Given the description of an element on the screen output the (x, y) to click on. 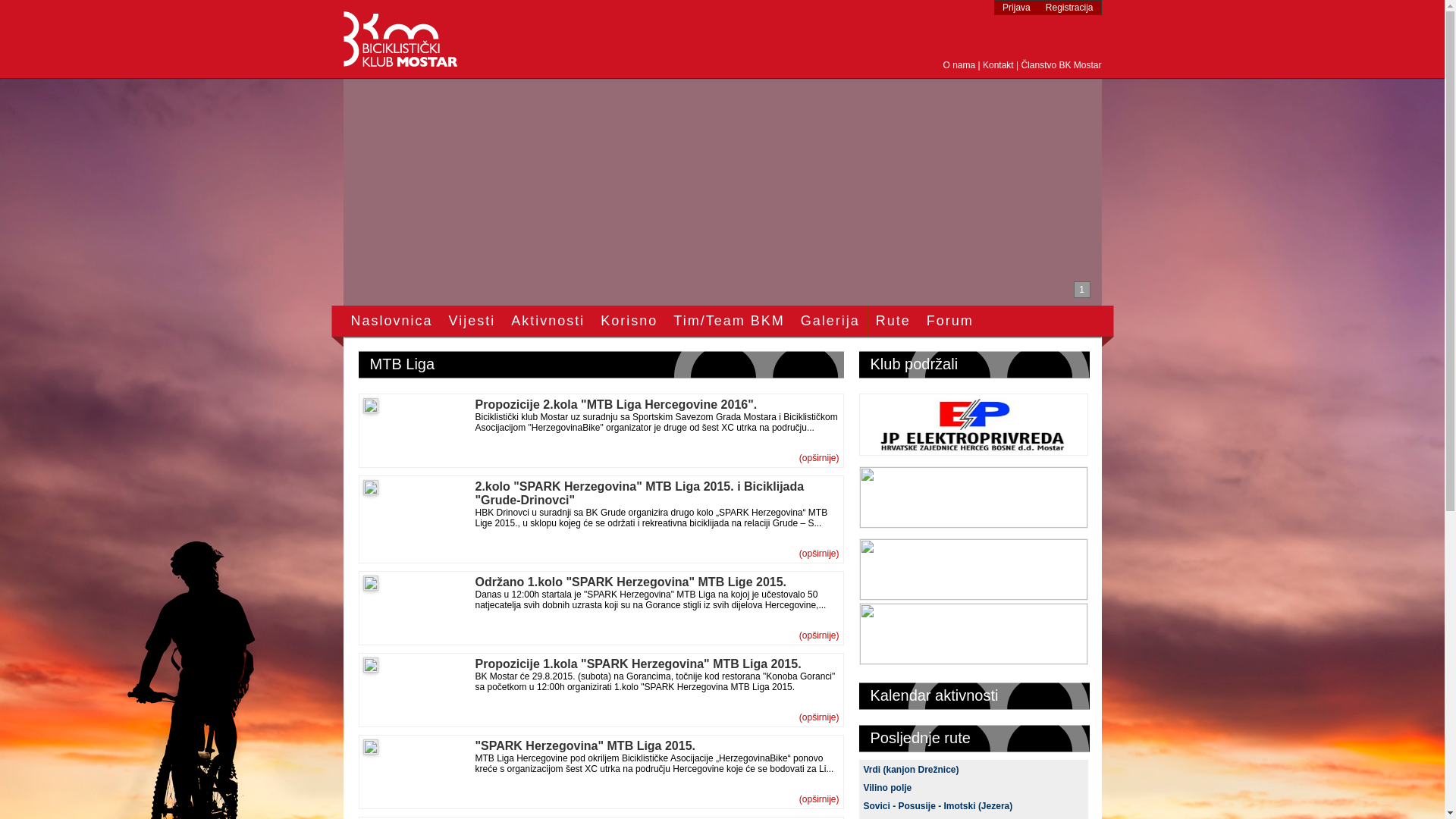
Korisno Element type: text (628, 320)
Prijava Element type: text (1016, 7)
Konoba Goranci Element type: hover (972, 595)
Rute Element type: text (892, 320)
Propozicije 2.kola "MTB Liga Hercegovine 2016". Element type: text (615, 404)
Galerija Element type: text (829, 320)
Shift Element type: hover (972, 659)
Propozicije 1.kola "SPARK Herzegovina" MTB Liga 2015. Element type: text (637, 663)
Kontakt Element type: text (997, 64)
Sovici - Posusije - Imotski (Jezera) Element type: text (937, 805)
Vijesti Element type: text (471, 320)
HT Eronet Element type: hover (972, 523)
Registracija Element type: text (1069, 7)
EPHZHB Element type: hover (972, 451)
Forum Element type: text (949, 320)
Naslovnica Element type: text (391, 320)
Vilino polje Element type: text (886, 787)
Aktivnosti Element type: text (547, 320)
O nama Element type: text (958, 64)
"SPARK Herzegovina" MTB Liga 2015. Element type: text (584, 745)
Tim/Team BKM Element type: text (728, 320)
